Given the description of an element on the screen output the (x, y) to click on. 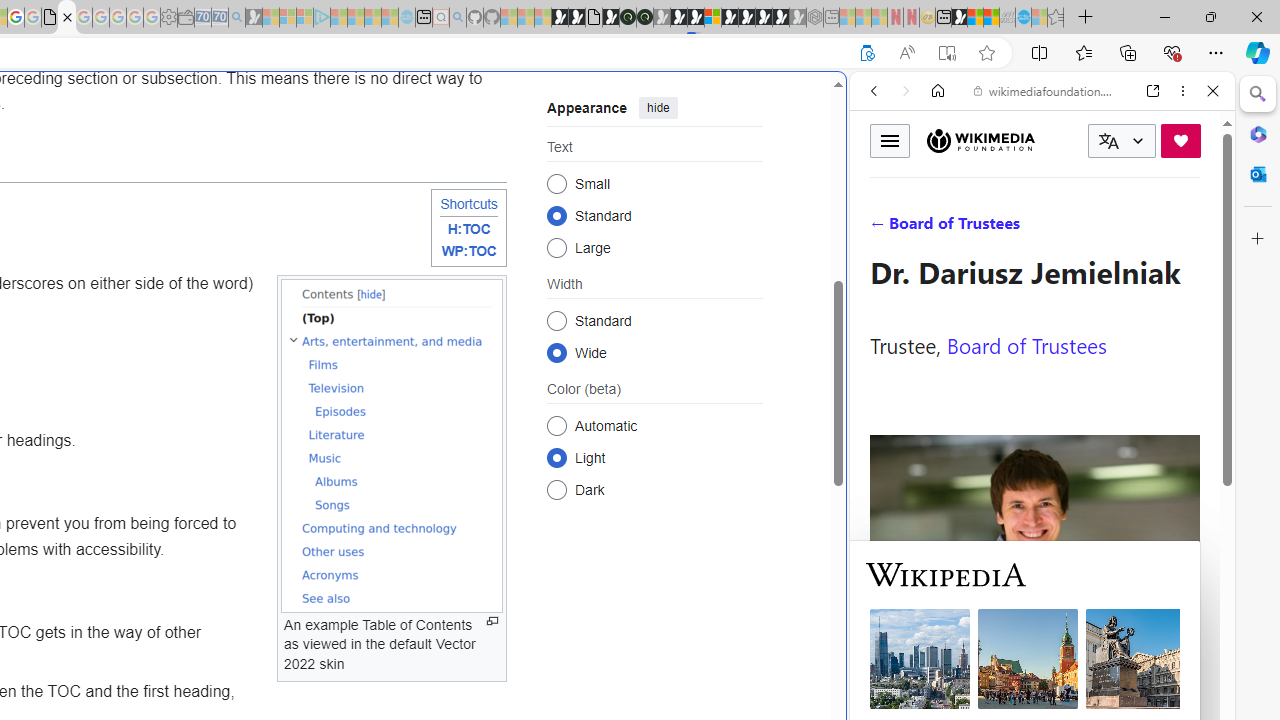
Forward (906, 91)
Search Filter, WEB (882, 228)
Preferences (1189, 228)
Wallet - Sleeping (185, 17)
Microsoft Start Gaming - Sleeping (253, 17)
Large (556, 246)
Class: i icon icon-translate language-switcher__icon (1108, 141)
WP:TOC (468, 251)
